Given the description of an element on the screen output the (x, y) to click on. 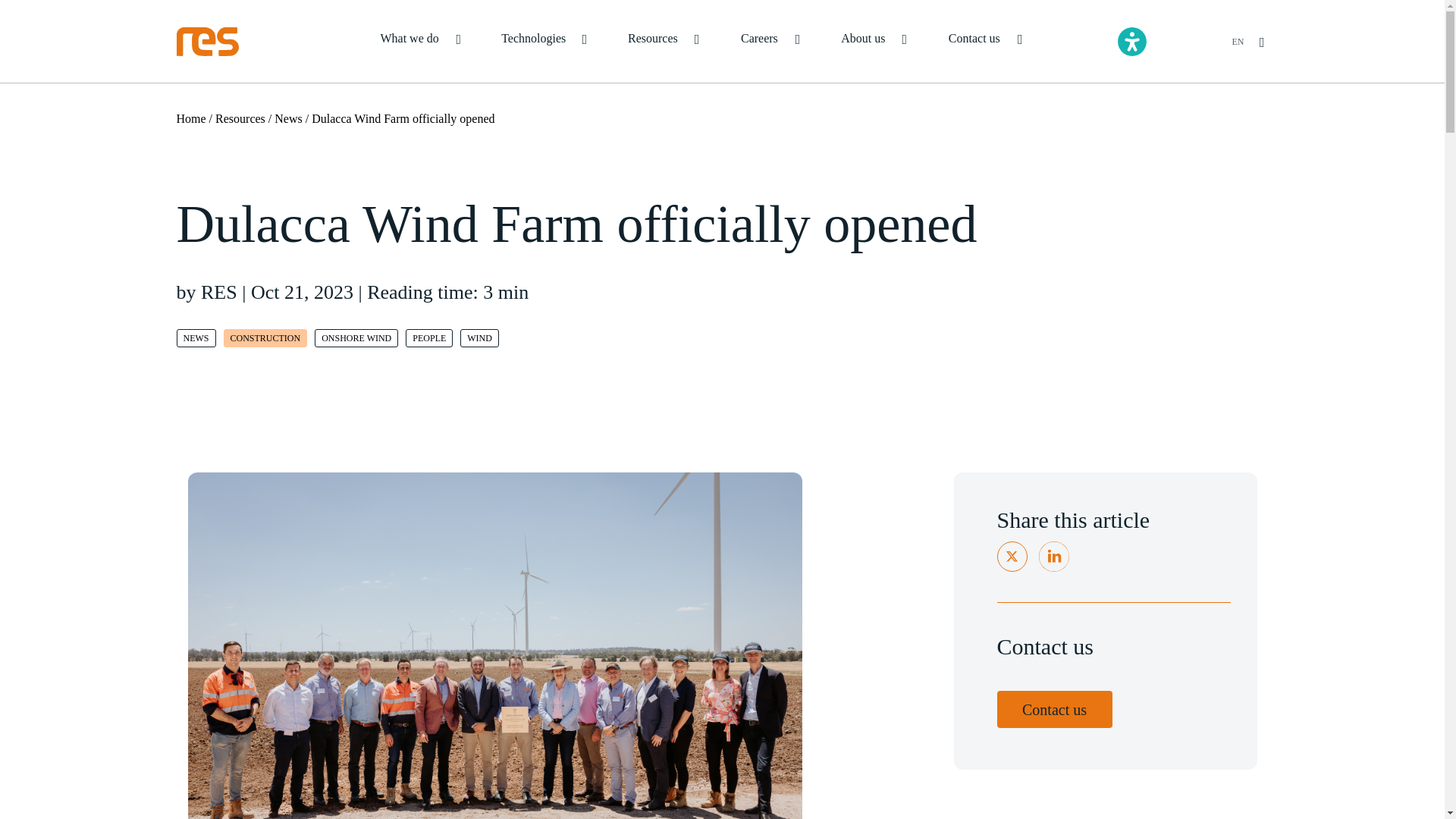
Resources (662, 42)
What we do (419, 42)
Technologies (543, 42)
Technologies (543, 42)
Careers (768, 42)
Careers (768, 42)
About us (873, 42)
Contact us (984, 42)
About us (873, 42)
Resources (662, 42)
